Given the description of an element on the screen output the (x, y) to click on. 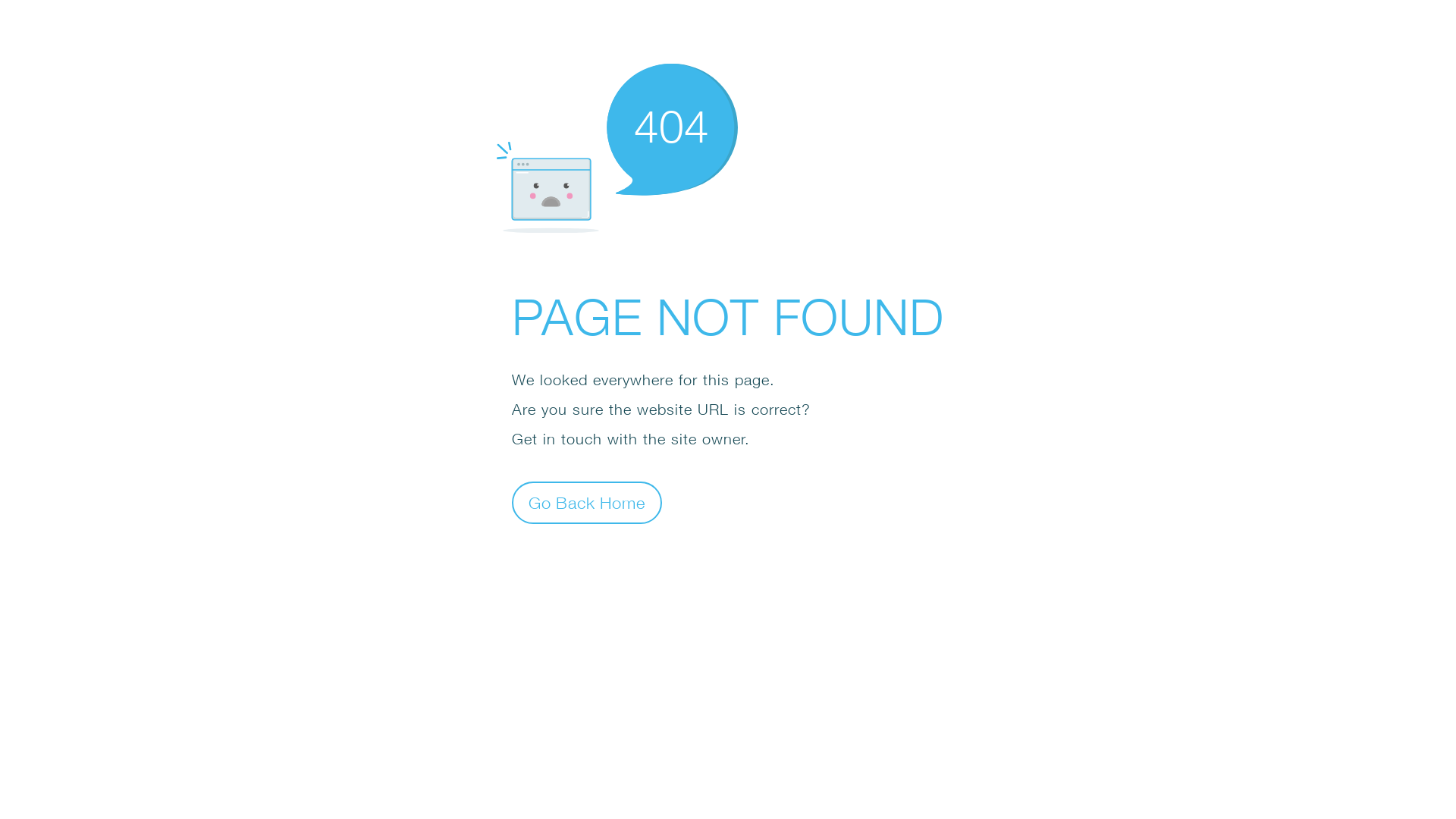
Go Back Home Element type: text (586, 502)
